Given the description of an element on the screen output the (x, y) to click on. 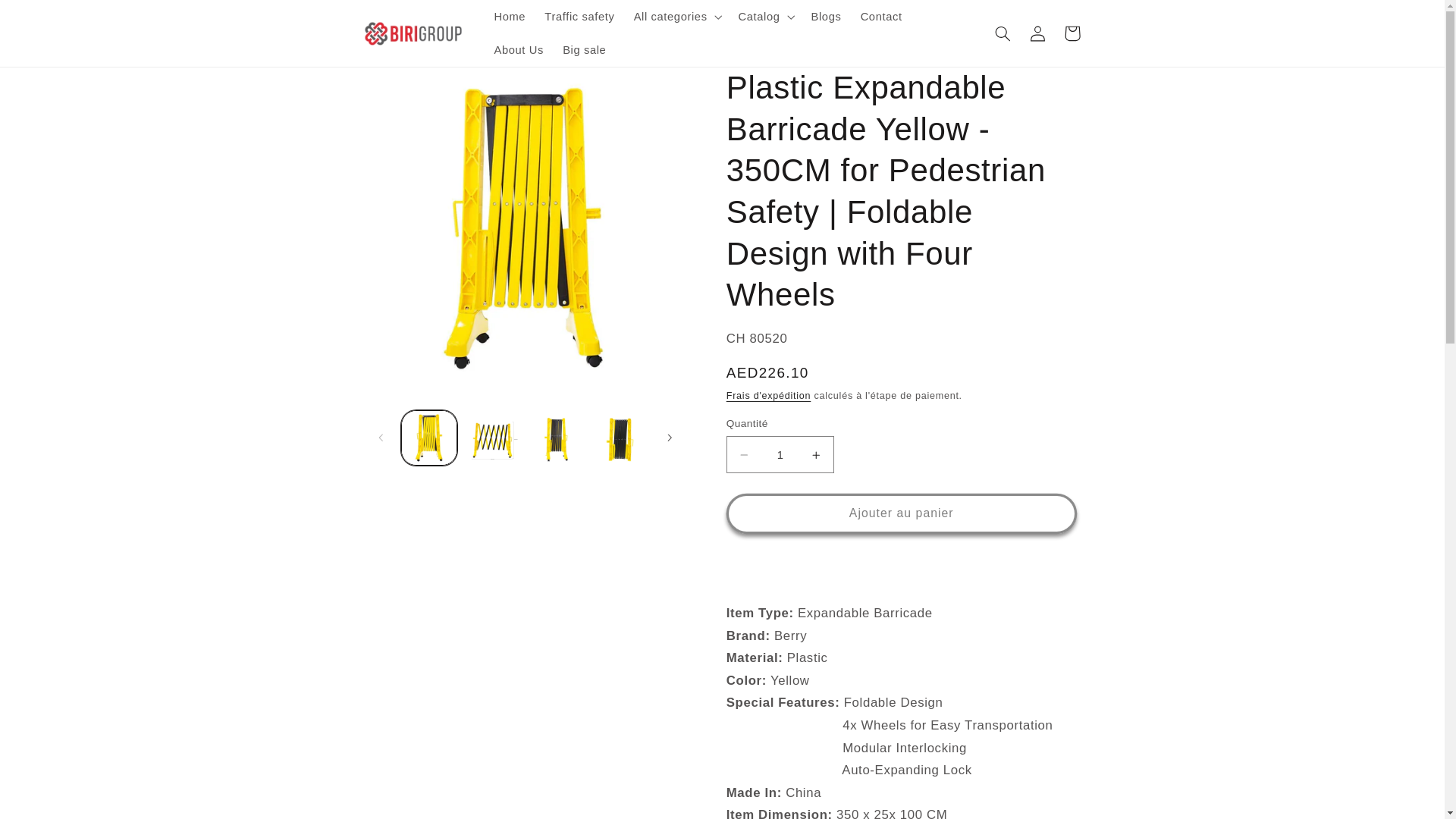
1 (780, 454)
Ignorer et passer au contenu (49, 19)
Home (509, 16)
Traffic safety (579, 16)
